Given the description of an element on the screen output the (x, y) to click on. 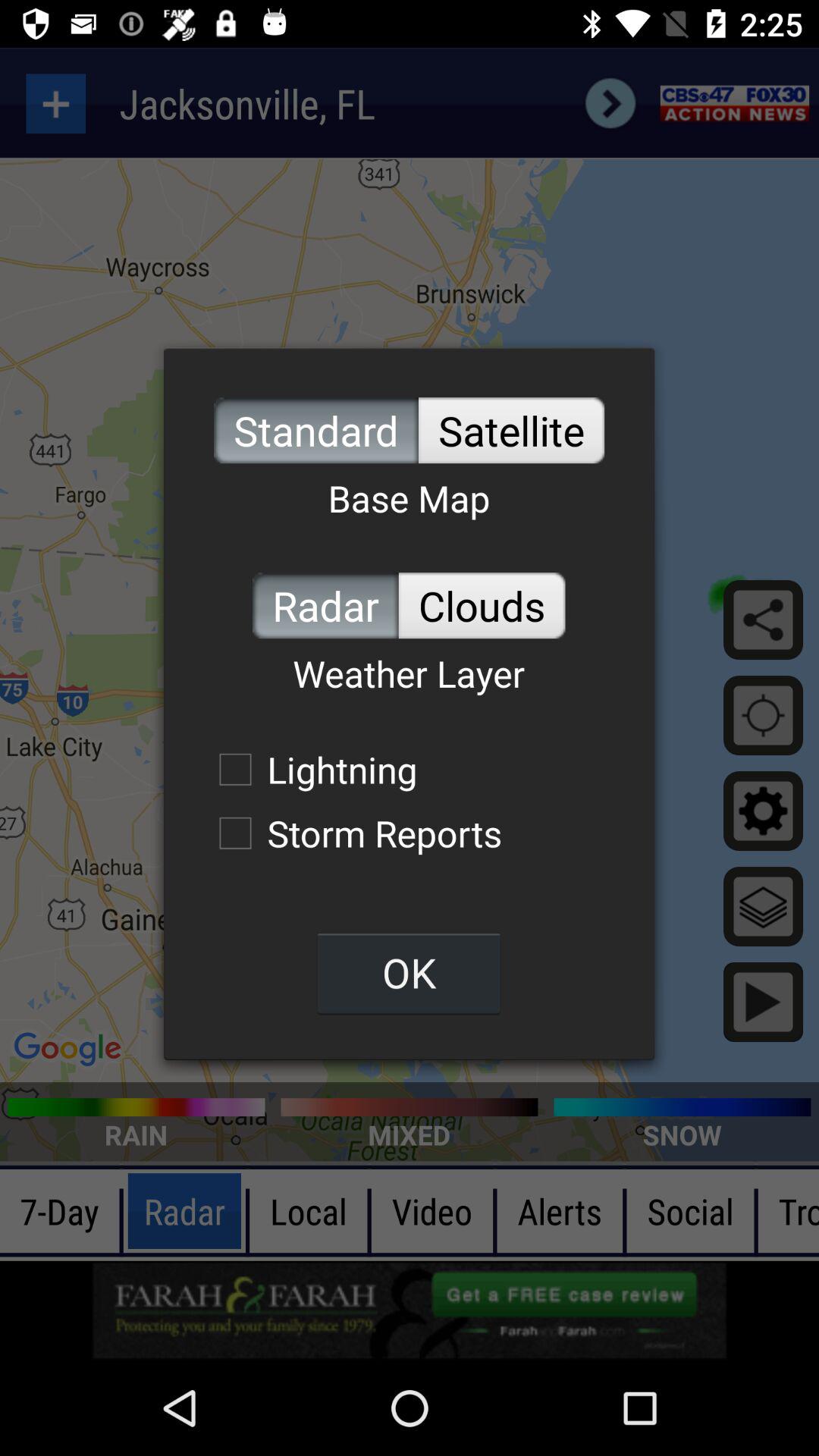
launch the icon above storm reports icon (310, 769)
